Given the description of an element on the screen output the (x, y) to click on. 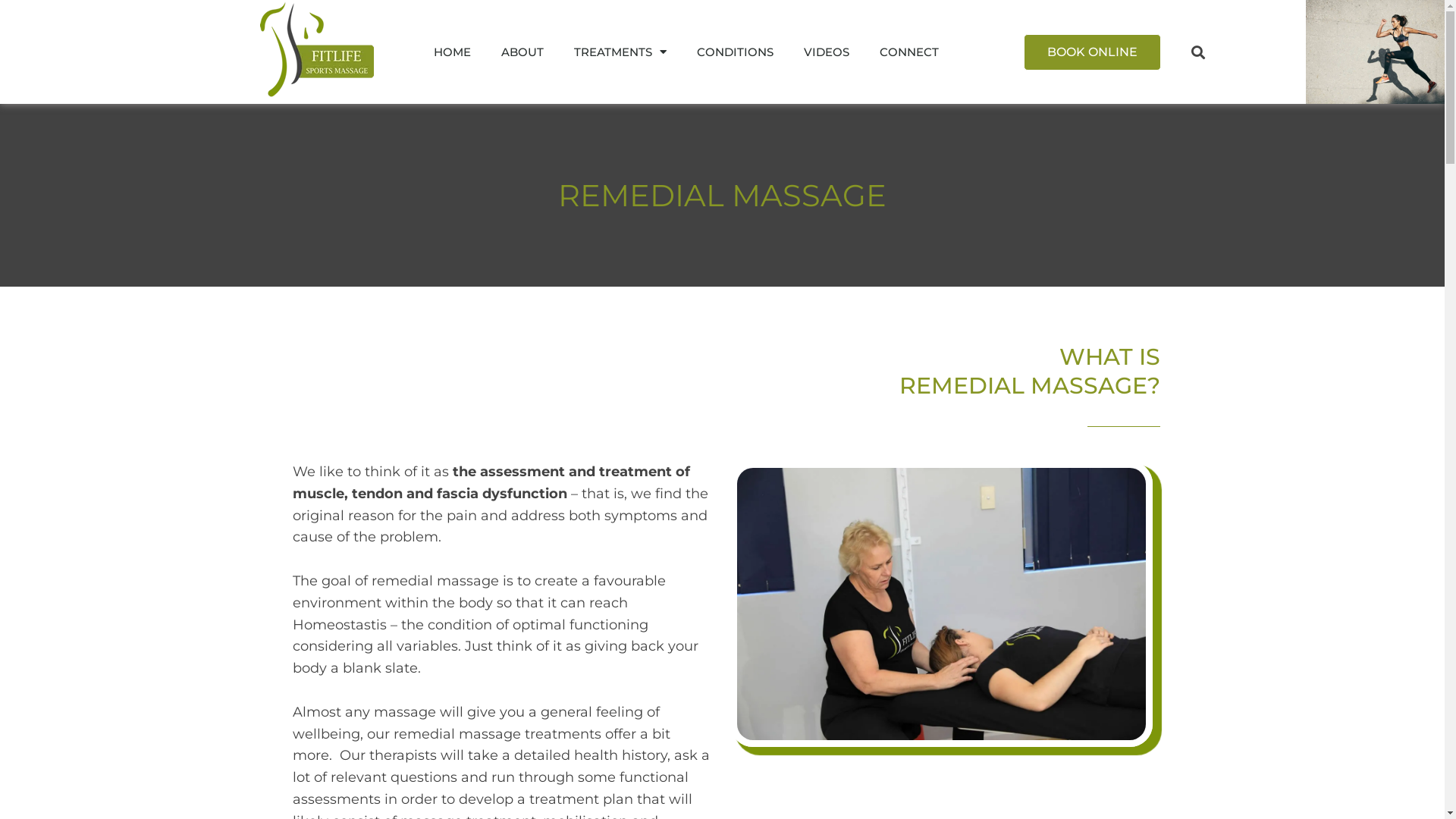
CONNECT Element type: text (908, 51)
HOME Element type: text (452, 51)
CONDITIONS Element type: text (734, 51)
ABOUT Element type: text (522, 51)
VIDEOS Element type: text (826, 51)
BOOK ONLINE Element type: text (1092, 51)
TREATMENTS Element type: text (619, 51)
